Given the description of an element on the screen output the (x, y) to click on. 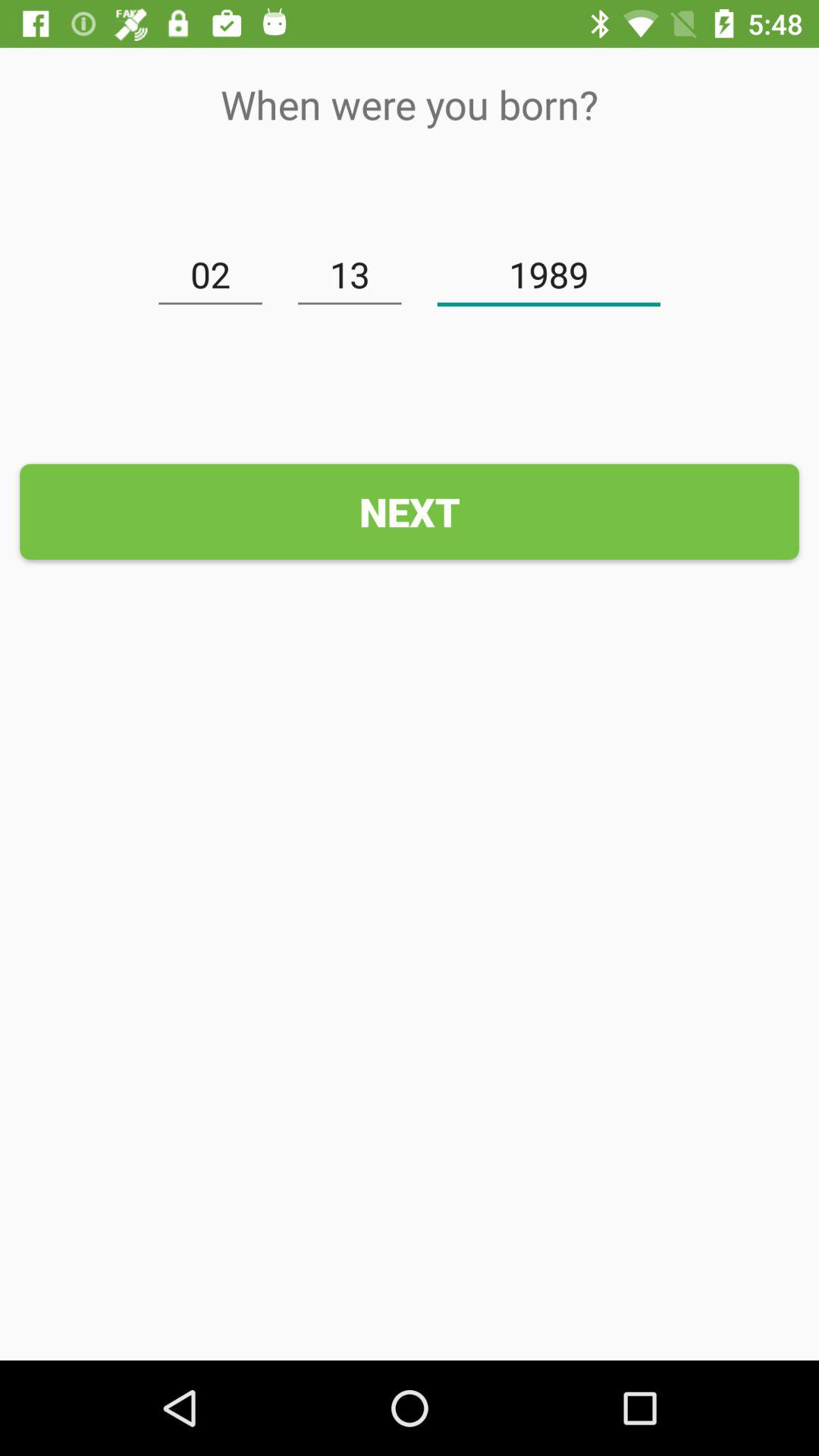
click item to the right of 02 icon (349, 275)
